Given the description of an element on the screen output the (x, y) to click on. 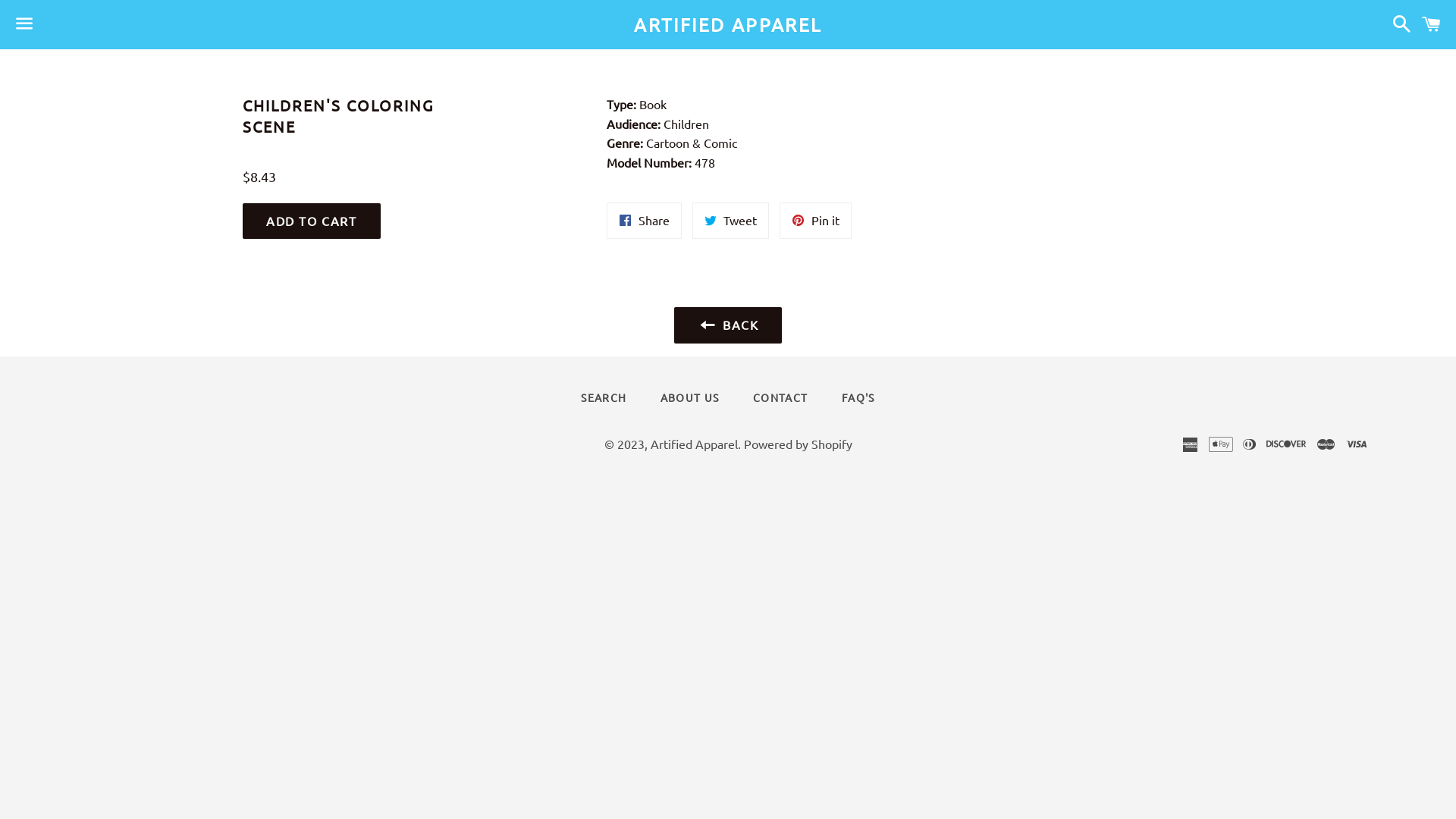
Search Element type: text (1397, 24)
SEARCH Element type: text (603, 397)
BACK Element type: text (728, 325)
Pin it
Pin on Pinterest Element type: text (815, 220)
Tweet
Tweet on Twitter Element type: text (730, 220)
Powered by Shopify Element type: text (797, 443)
Artified Apparel Element type: text (693, 443)
CONTACT Element type: text (780, 397)
ABOUT US Element type: text (689, 397)
FAQ'S Element type: text (858, 397)
ARTIFIED APPAREL Element type: text (727, 24)
Menu Element type: text (24, 24)
Share
Share on Facebook Element type: text (643, 220)
ADD TO CART Element type: text (311, 221)
Cart Element type: text (1431, 24)
